Given the description of an element on the screen output the (x, y) to click on. 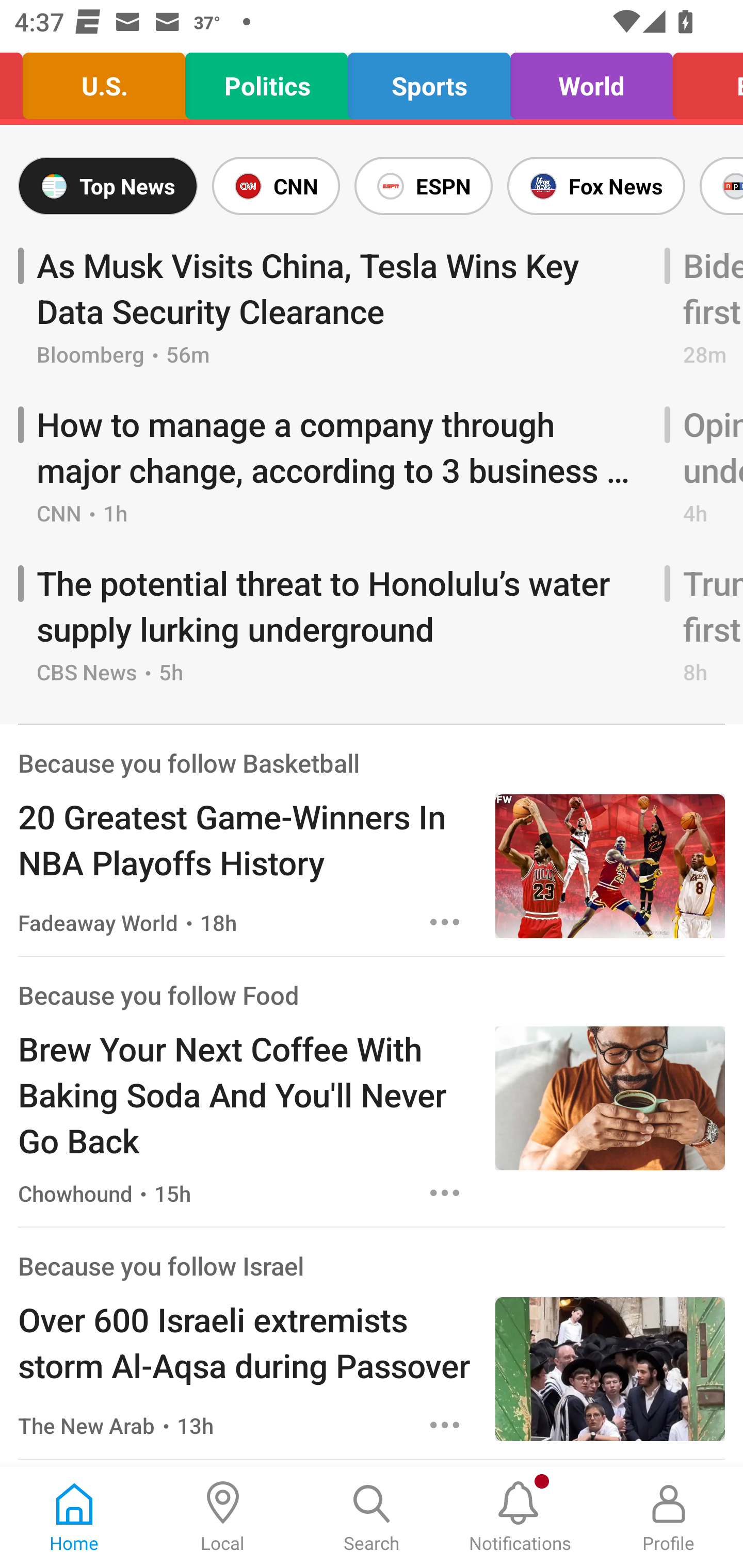
U.S. (103, 81)
Politics (266, 81)
Sports (428, 81)
World (591, 81)
CNN (275, 185)
ESPN (423, 185)
Fox News (596, 185)
Because you follow Basketball (188, 762)
Options (444, 921)
Because you follow Food (158, 994)
Options (444, 1193)
Because you follow Israel (160, 1265)
Options (444, 1425)
Local (222, 1517)
Search (371, 1517)
Notifications, New notification Notifications (519, 1517)
Profile (668, 1517)
